Given the description of an element on the screen output the (x, y) to click on. 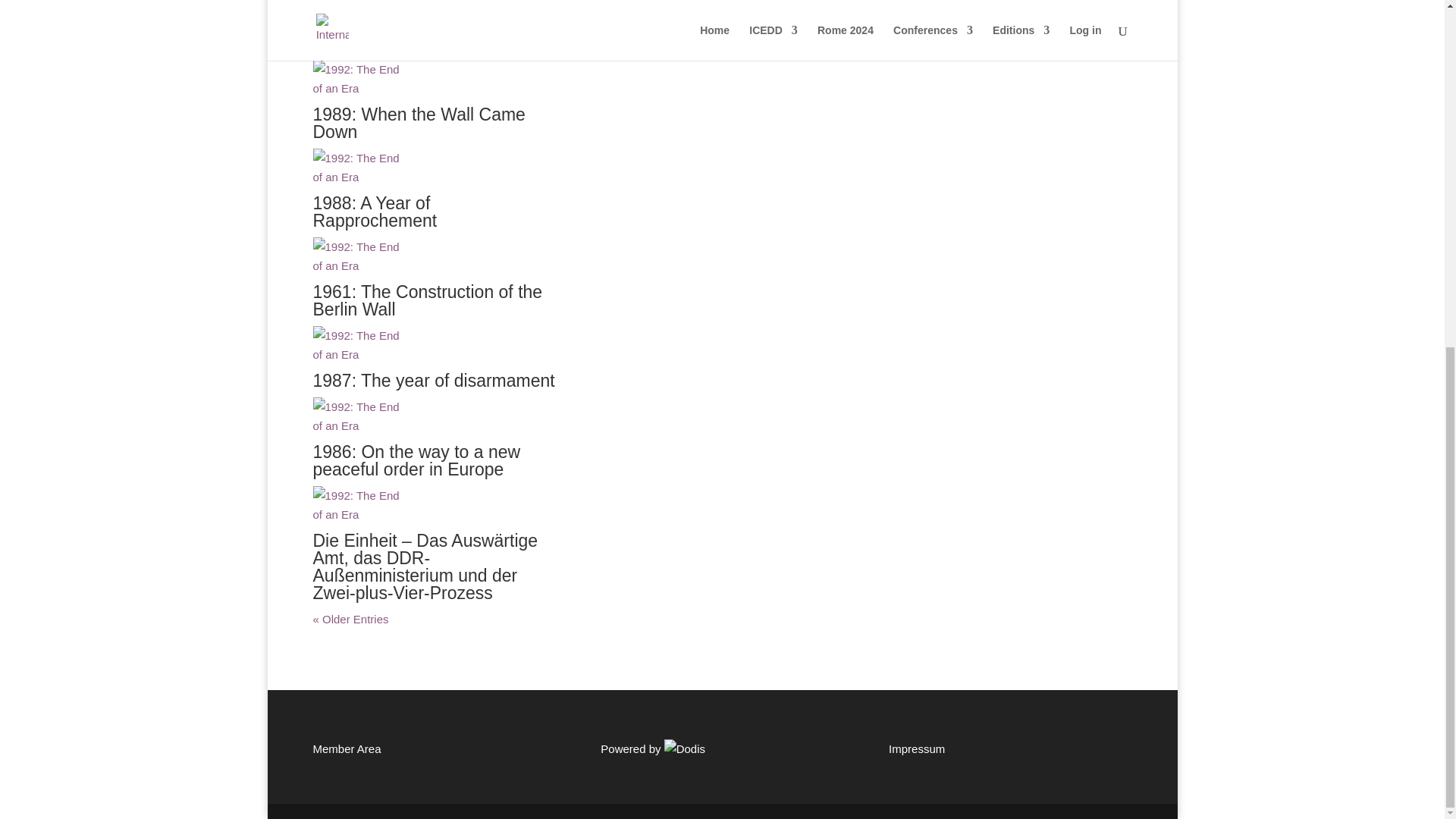
Impressum (916, 748)
1990: The Unification of Germany (433, 4)
Member Area (346, 748)
1989: When the Wall Came Down (433, 78)
Powered by (651, 748)
1987: The year of disarmament (433, 380)
1961: The Construction of the Berlin Wall (427, 300)
1989: When the Wall Came Down (418, 122)
1986: On the way to a new peaceful order in Europe (416, 460)
1990: The Unification of Germany (404, 34)
